Given the description of an element on the screen output the (x, y) to click on. 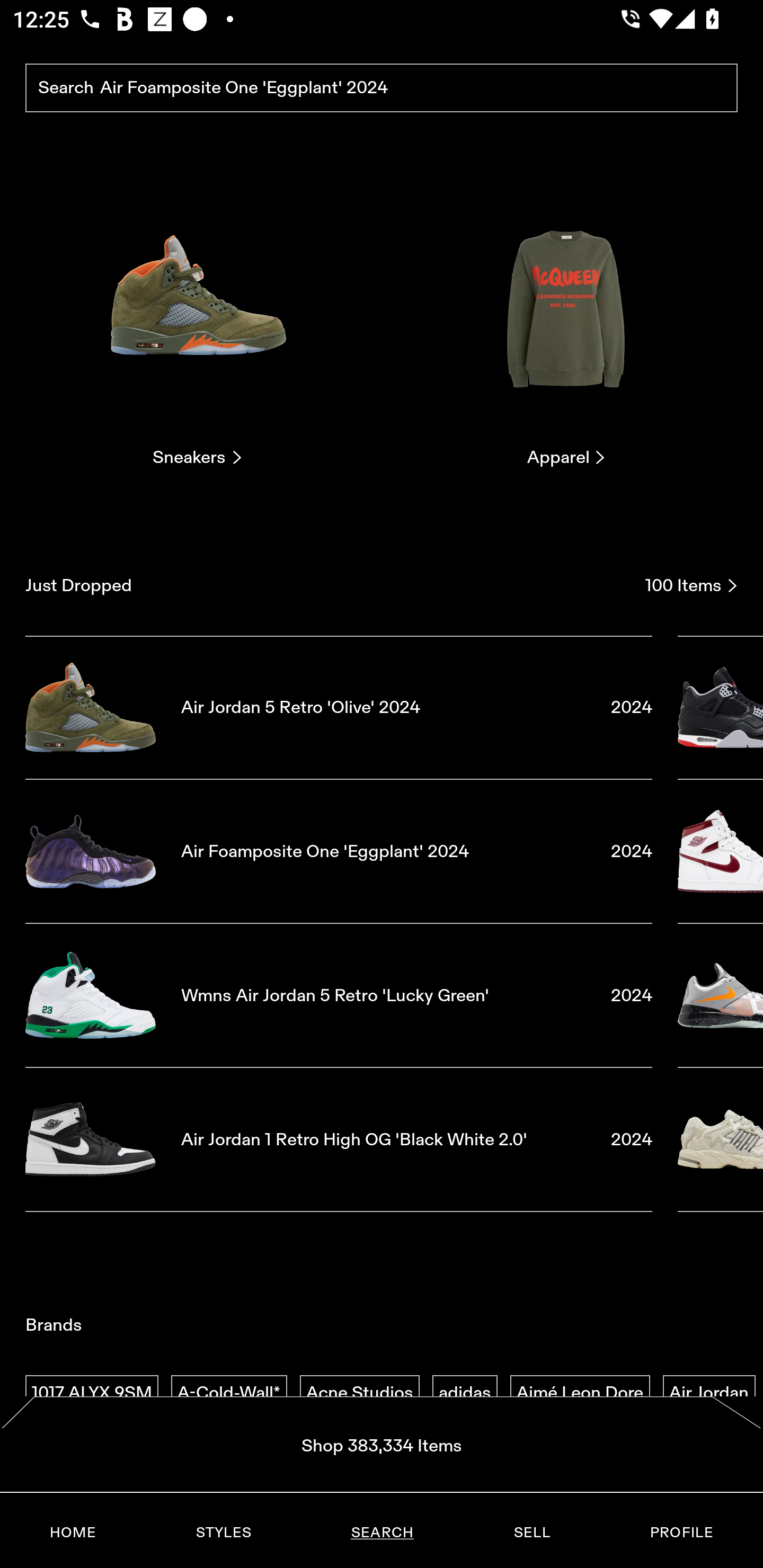
Search (381, 88)
Sneakers (196, 323)
Apparel (565, 323)
Just Dropped (328, 585)
100 Items (691, 585)
Air Jordan 5 Retro 'Olive' 2024 2024 (338, 707)
Air Foamposite One 'Eggplant' 2024 2024 (338, 851)
Wmns Air Jordan 5 Retro 'Lucky Green' 2024 (338, 995)
Air Jordan 1 Retro High OG 'Black White 2.0' 2024 (338, 1139)
1017 ALYX 9SM (91, 1393)
A-Cold-Wall* (228, 1393)
Acne Studios (359, 1393)
adidas (464, 1393)
Aimé Leon Dore (580, 1393)
Air Jordan (709, 1393)
HOME (72, 1532)
STYLES (222, 1532)
SEARCH (381, 1532)
SELL (531, 1532)
PROFILE (681, 1532)
